Given the description of an element on the screen output the (x, y) to click on. 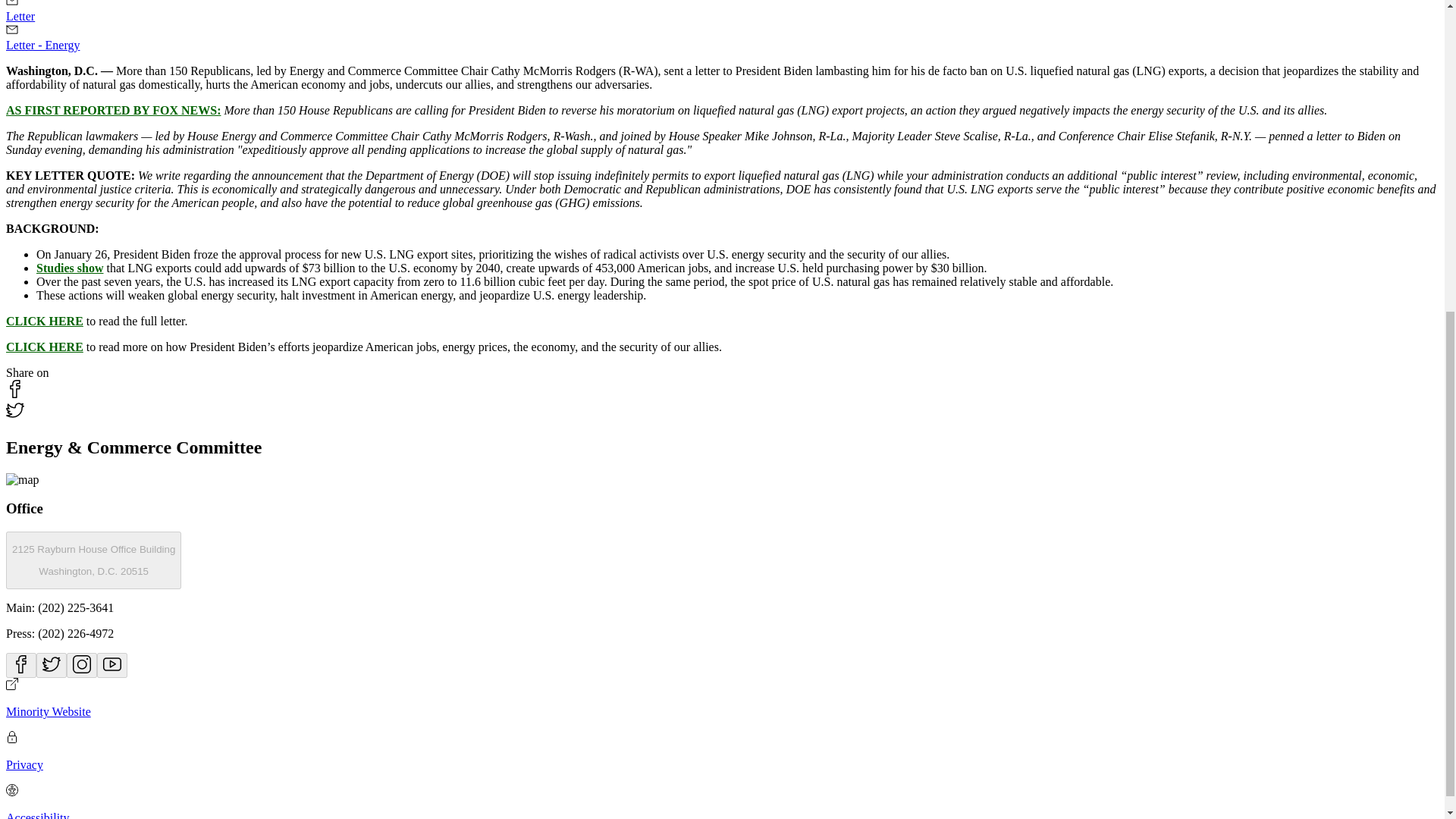
CLICK HERE (92, 559)
AS FIRST REPORTED BY FOX NEWS: (43, 320)
Studies show (113, 110)
CLICK HERE (69, 267)
